Given the description of an element on the screen output the (x, y) to click on. 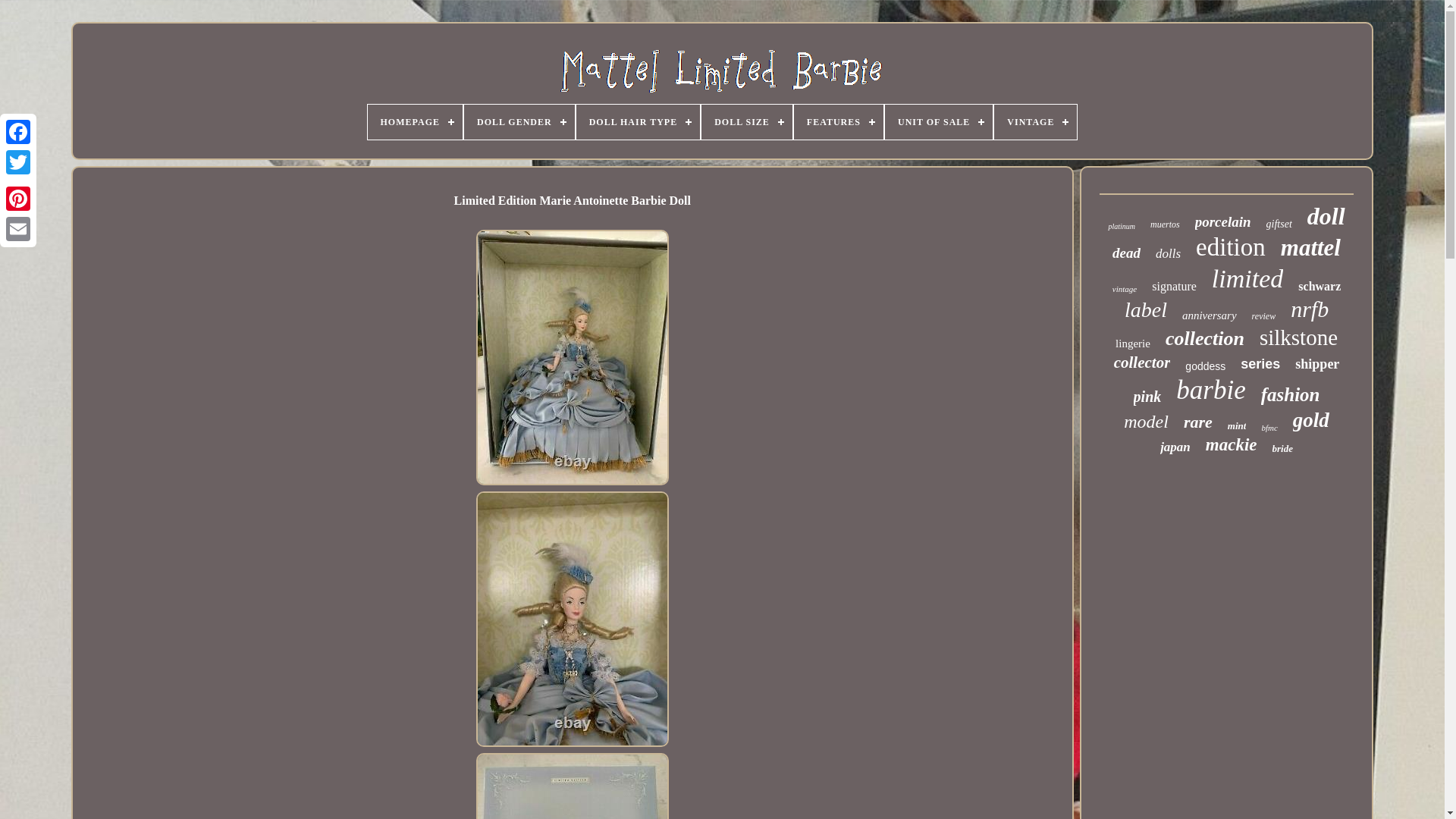
DOLL HAIR TYPE (638, 121)
Limited Edition Marie Antoinette Barbie Doll (572, 785)
HOMEPAGE (415, 121)
DOLL GENDER (519, 121)
